Given the description of an element on the screen output the (x, y) to click on. 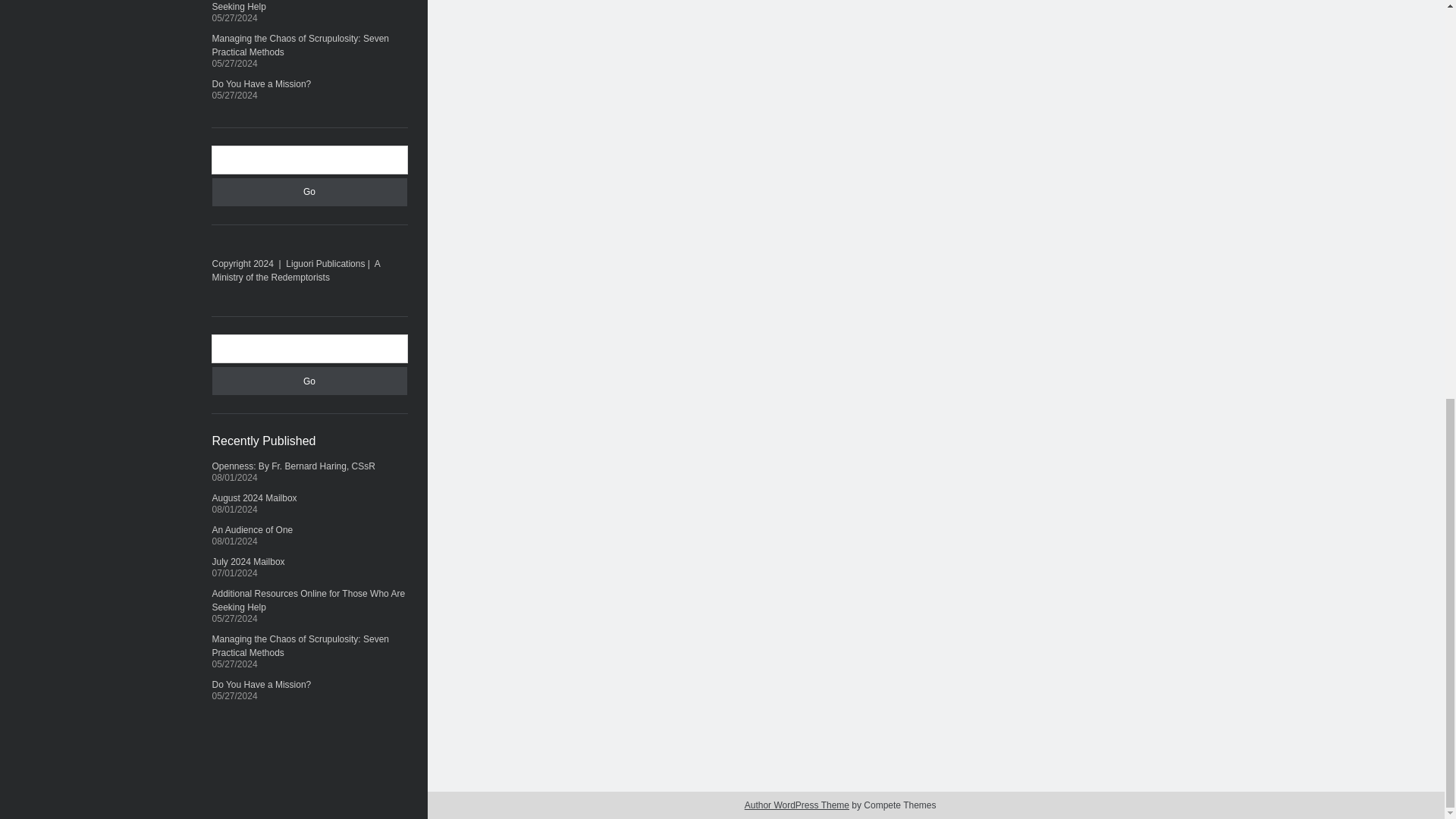
Do You Have a Mission? (261, 83)
Go (309, 380)
Managing the Chaos of Scrupulosity: Seven Practical Methods (300, 45)
Openness: By Fr. Bernard Haring, CSsR (293, 466)
Go (309, 380)
July 2024 Mailbox (248, 561)
Go (309, 192)
Go (309, 380)
Go (309, 192)
Search for: (309, 348)
An Audience of One (253, 529)
Do You Have a Mission? (261, 684)
Search for: (309, 159)
Go (309, 192)
Managing the Chaos of Scrupulosity: Seven Practical Methods (300, 645)
